Given the description of an element on the screen output the (x, y) to click on. 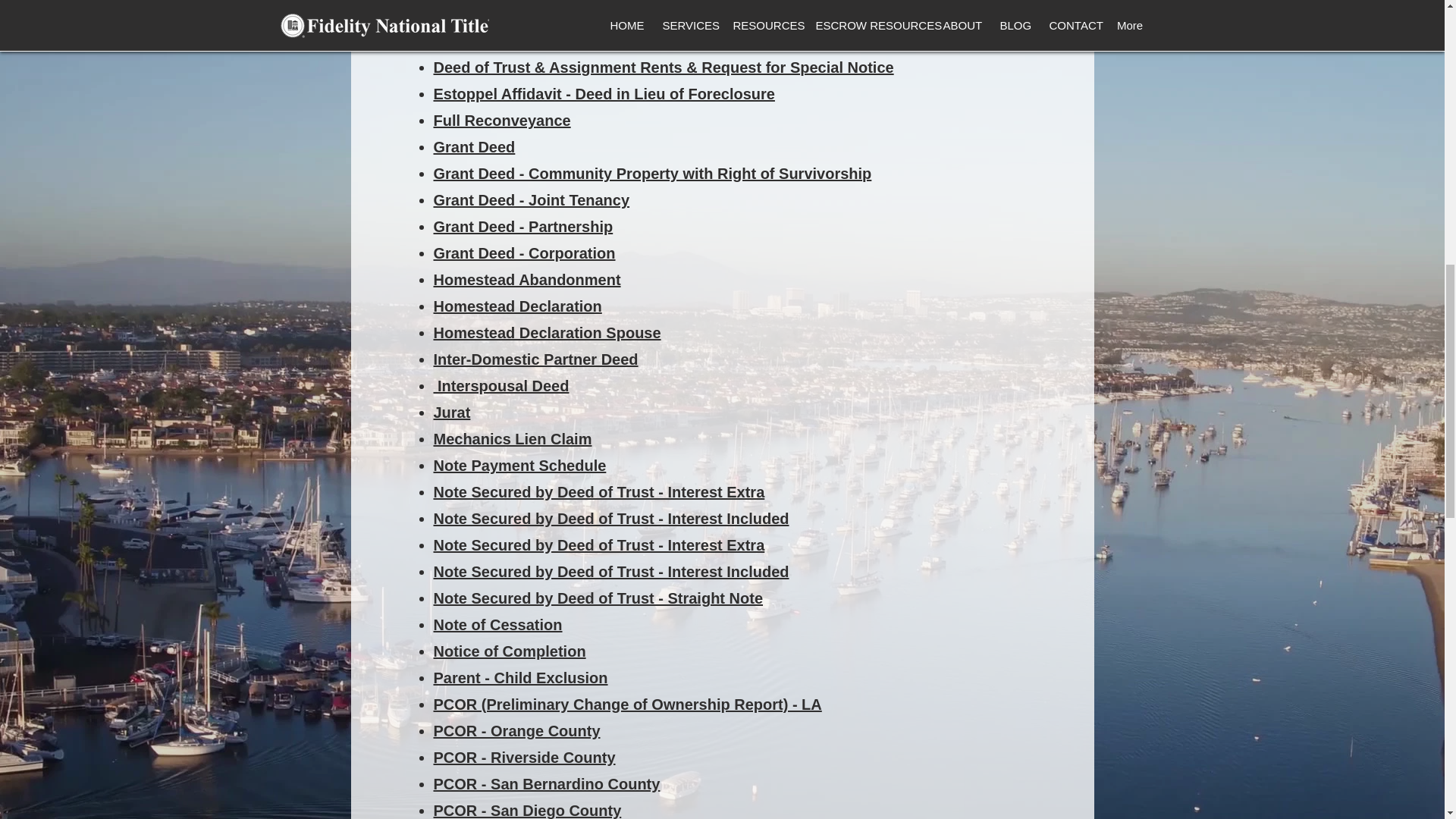
Grant Deed - Partnership (522, 226)
Estoppel Affidavit - Deed in Lieu of Foreclosure (603, 93)
Grant Deed - Joint Tenancy (531, 199)
Deed of Trust (482, 13)
Grant Deed - Community Property with Right of Survivorship (652, 173)
Full Reconveyance (501, 120)
Grant Deed (474, 146)
